Given the description of an element on the screen output the (x, y) to click on. 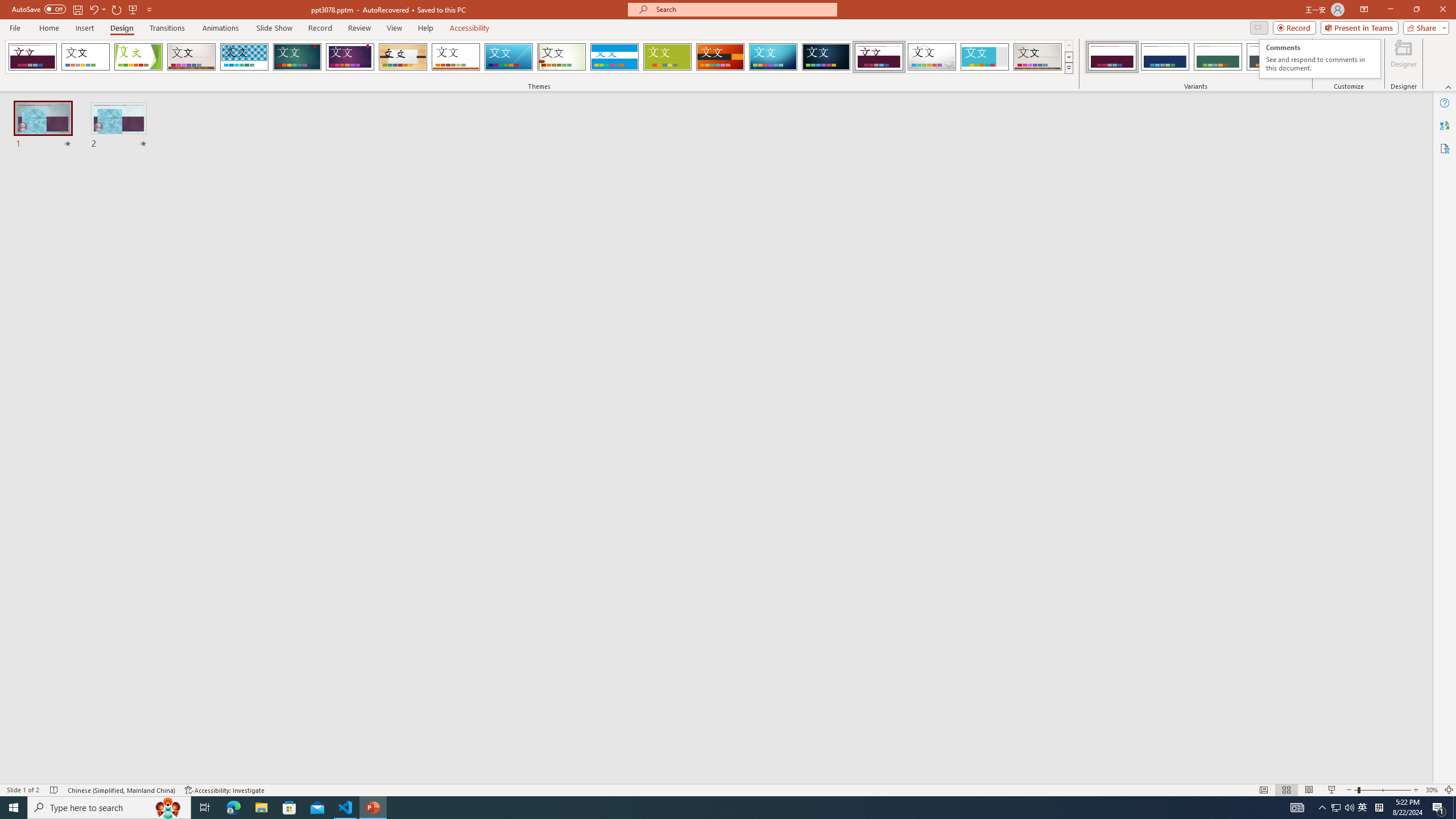
Droplet (931, 56)
Retrospect (1319, 58)
Organic (455, 56)
Format Background (403, 56)
Berlin (1360, 58)
Banded (720, 56)
